Given the description of an element on the screen output the (x, y) to click on. 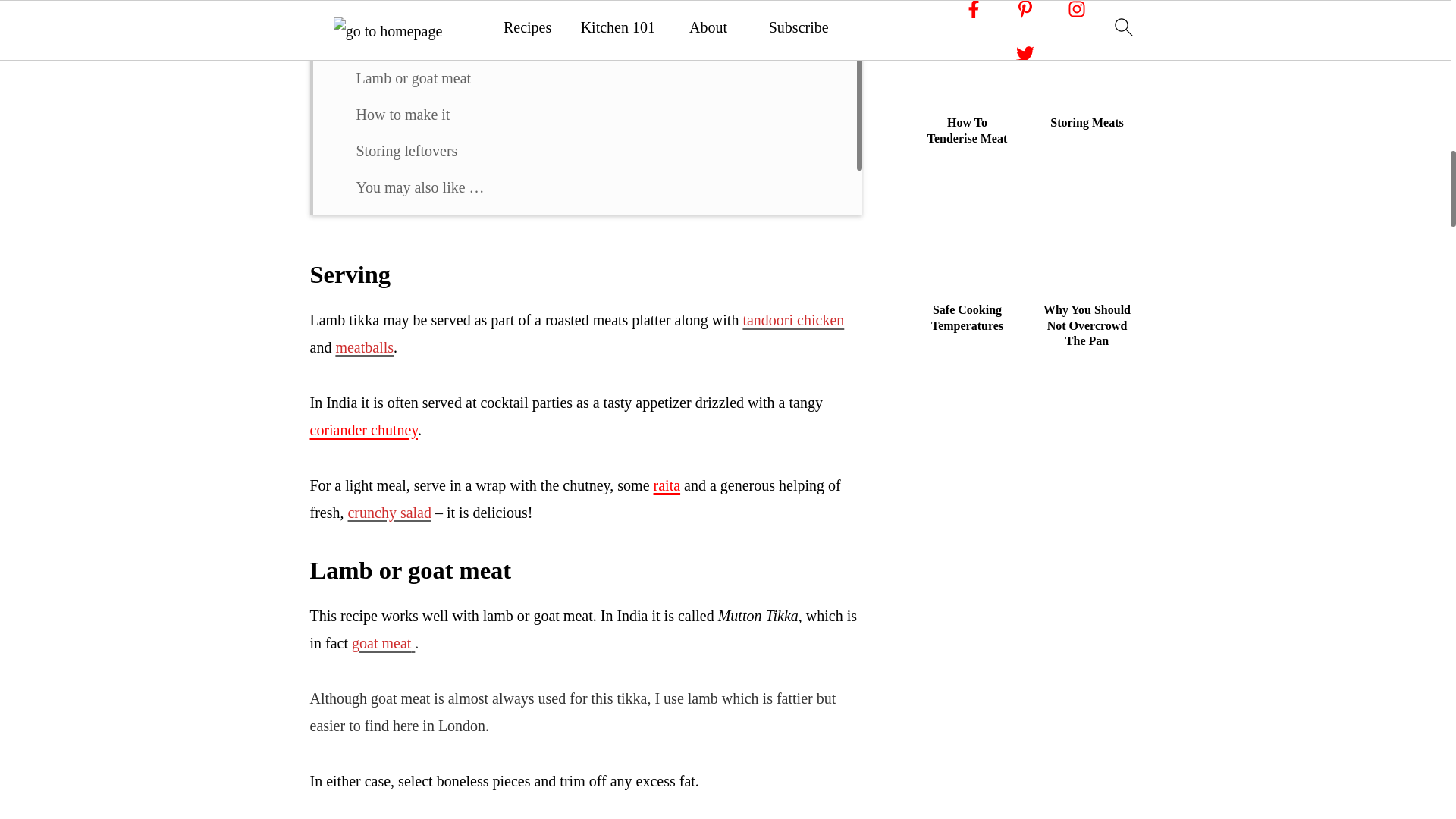
Serving (379, 41)
Lamb or goat meat (413, 77)
